Given the description of an element on the screen output the (x, y) to click on. 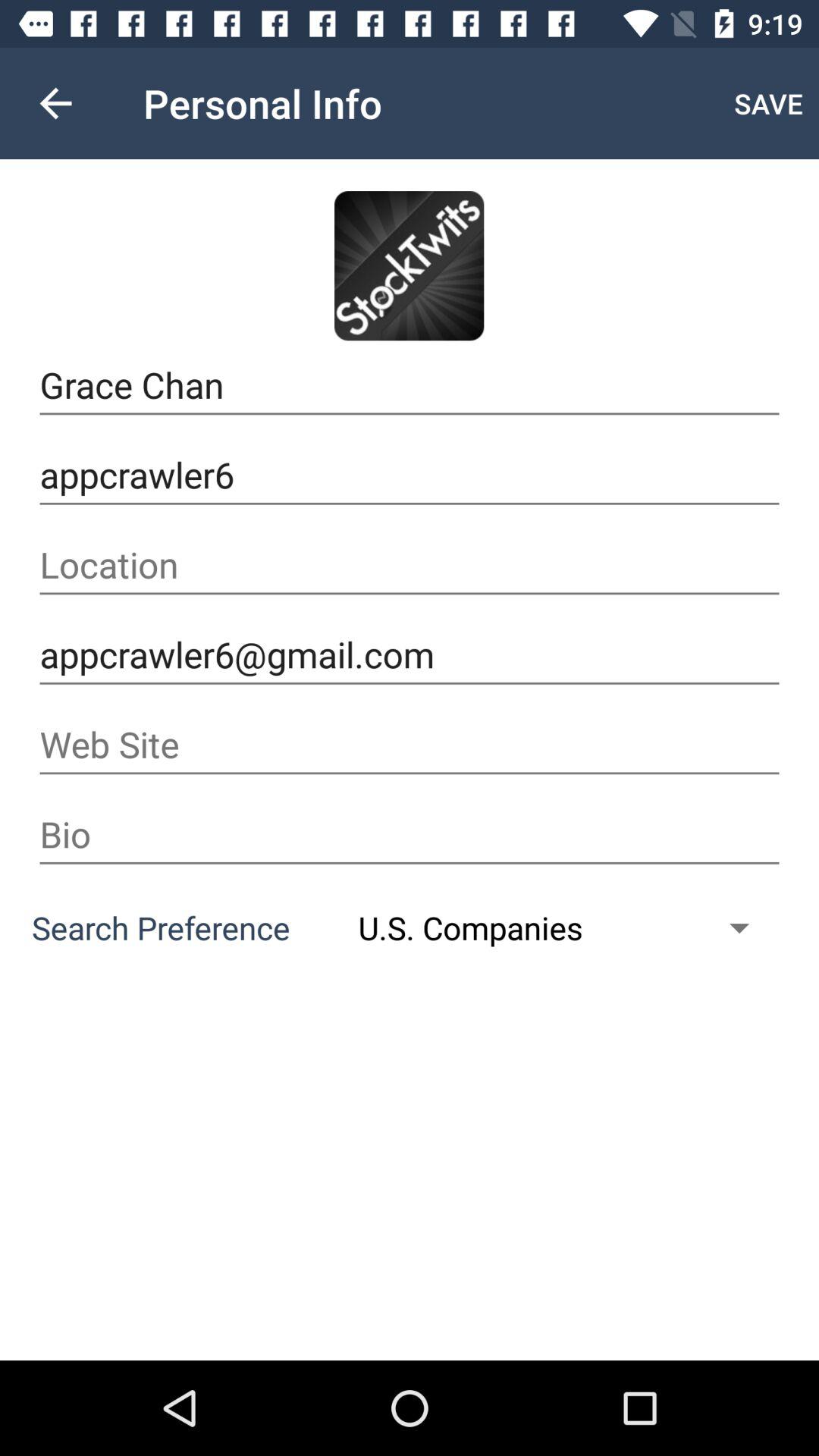
press the icon at the top right corner (768, 103)
